Given the description of an element on the screen output the (x, y) to click on. 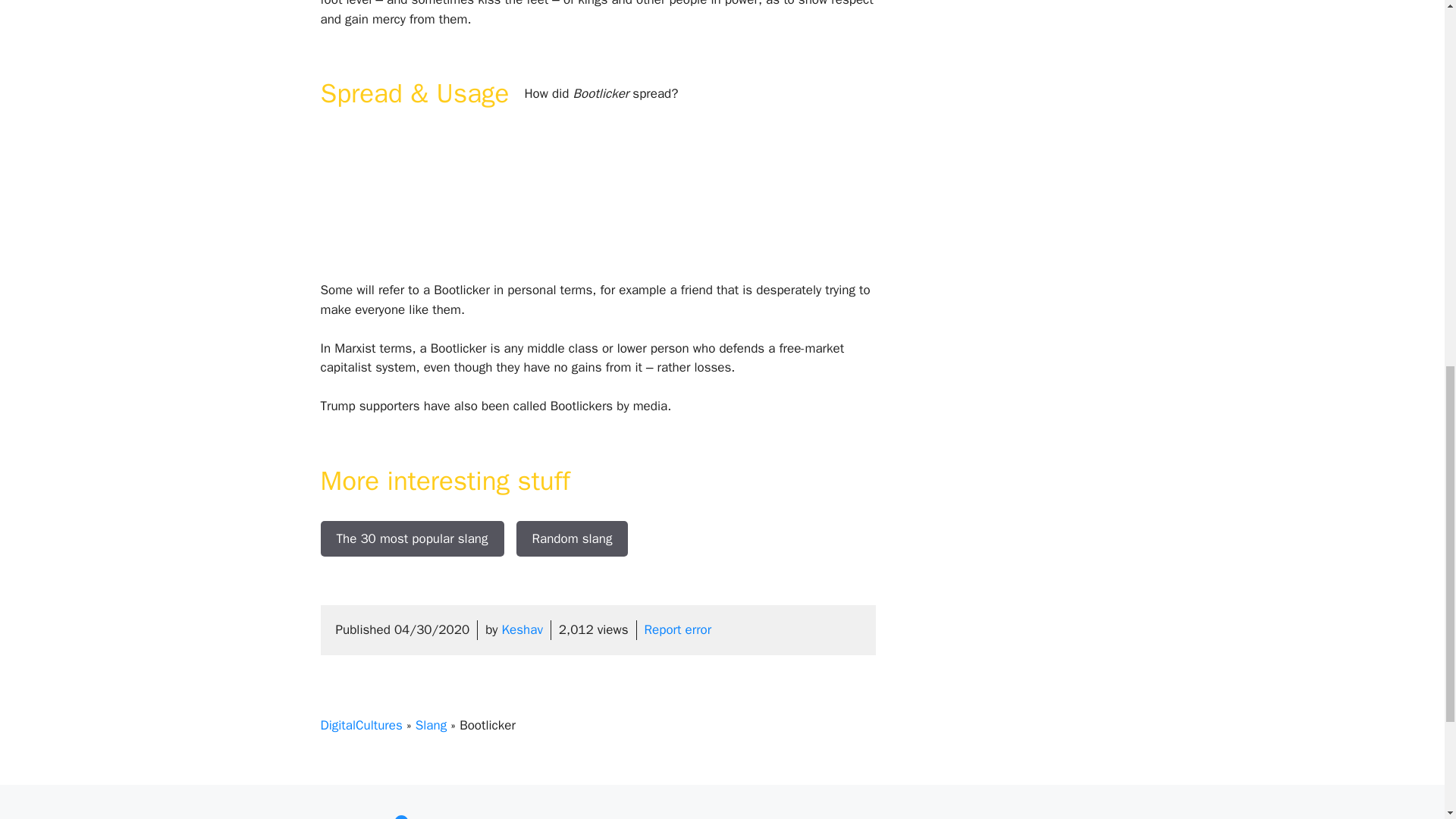
Keshav (522, 629)
Report error (678, 629)
Random slang (571, 538)
About us (761, 817)
DigitalCultures (360, 725)
Slang (430, 725)
The 30 most popular slang (411, 538)
